Given the description of an element on the screen output the (x, y) to click on. 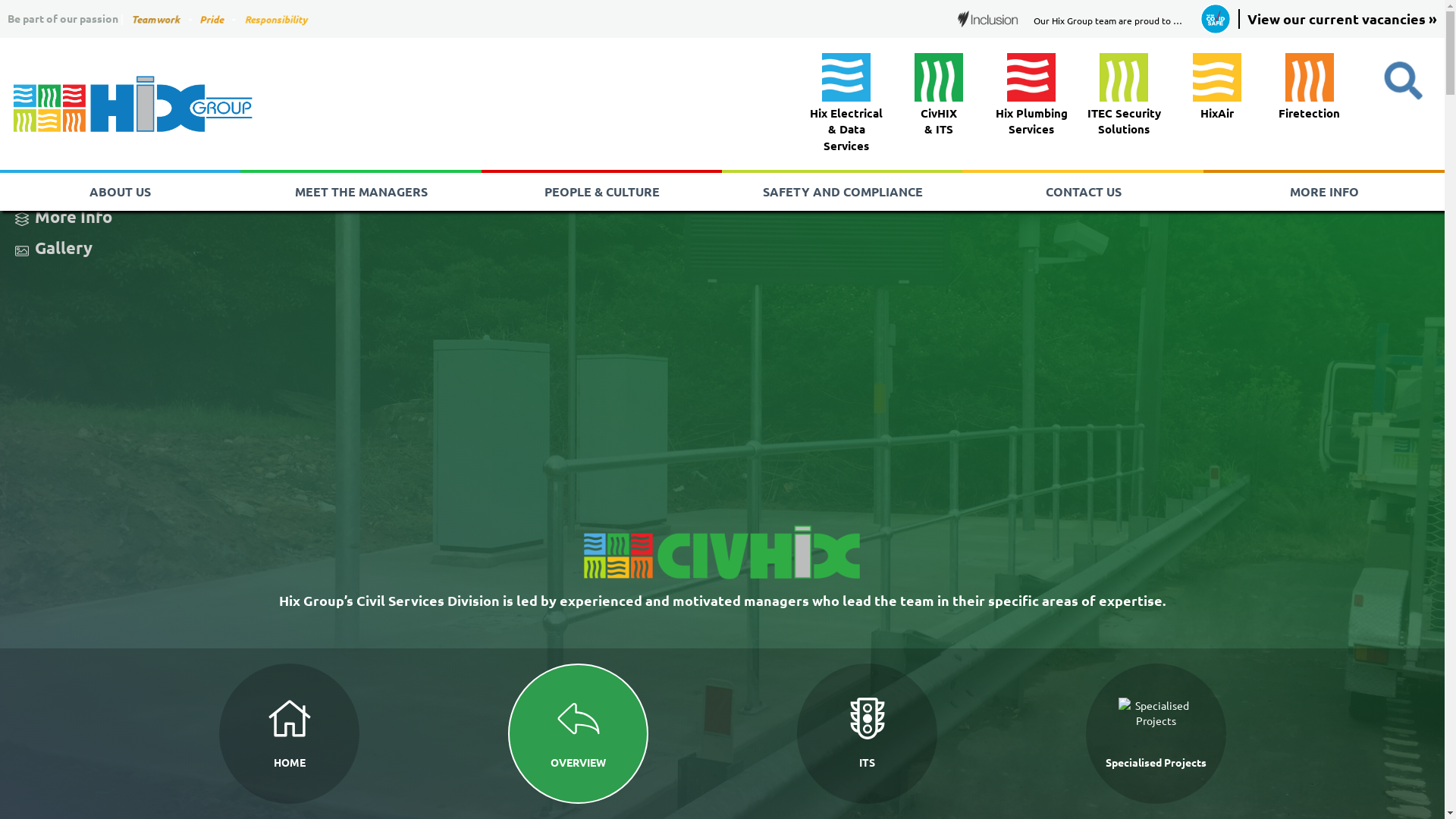
ITS Element type: text (865, 733)
Hix Plumbing Services Element type: text (1030, 97)
CONTACT US Element type: text (1083, 191)
ABOUT US Element type: text (120, 191)
HixAir Element type: text (1216, 89)
HOME Element type: text (288, 733)
MEET THE MANAGERS Element type: text (360, 191)
ITEC Security Solutions Element type: text (1123, 97)
Specialised Projects Element type: text (1155, 733)
Gallery Element type: text (63, 247)
More Info Element type: text (73, 216)
SBS Inclusion Element type: hover (987, 18)
PEOPLE & CULTURE Element type: text (601, 191)
CivHIX
& ITS Element type: text (938, 97)
SAFETY AND COMPLIANCE Element type: text (841, 191)
|   Teamwork   -   Pride   -   Responsibility Element type: text (215, 18)
Hix Electrical
& Data Services Element type: text (845, 105)
OVERVIEW Element type: text (577, 733)
Firetection Element type: text (1308, 89)
MORE INFO Element type: text (1323, 191)
